Given the description of an element on the screen output the (x, y) to click on. 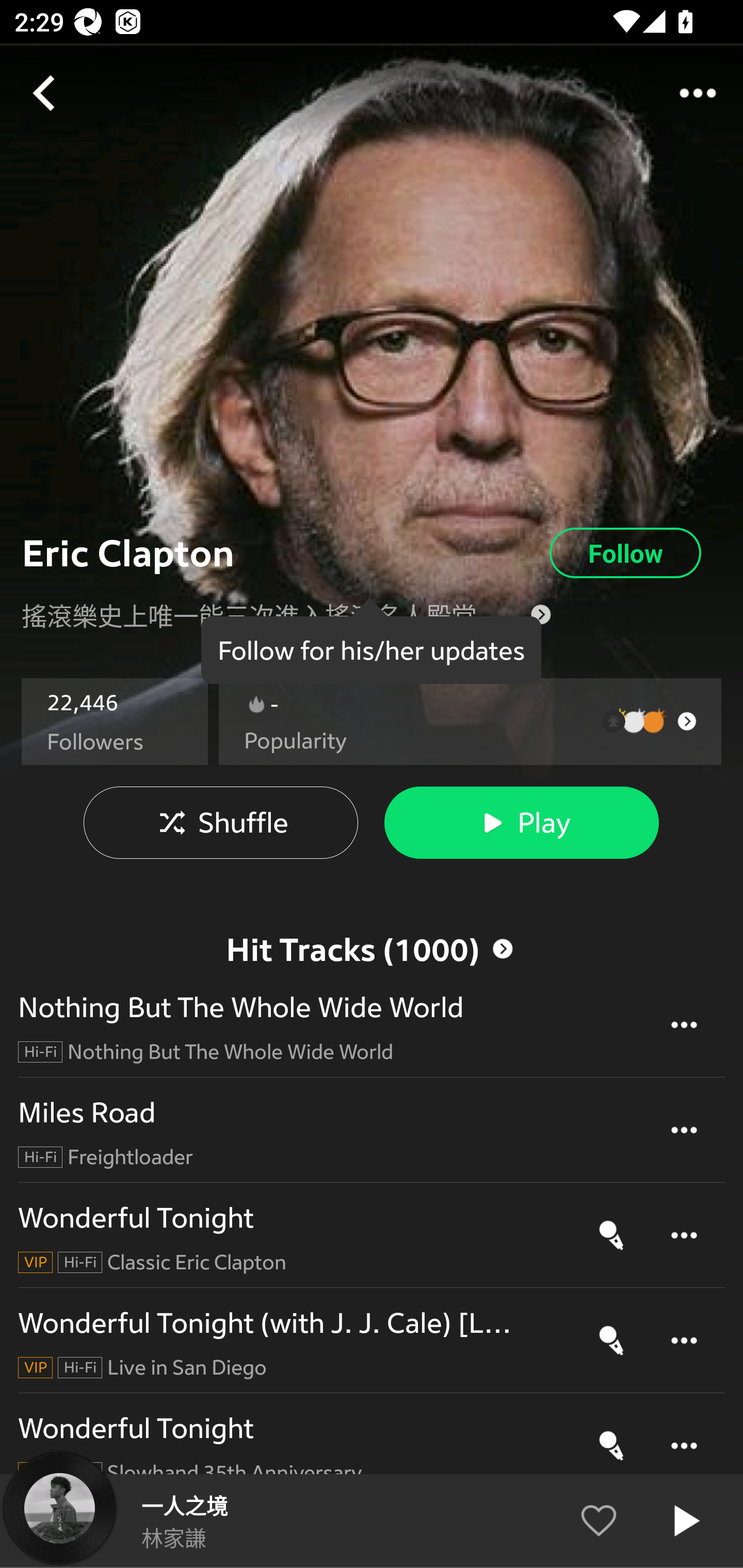
Follow (625, 553)
- Popularity (469, 721)
Popularity (294, 740)
Shuffle (220, 823)
Play (521, 823)
Hit Tracks (1000) (371, 915)
Hit Tracks (1000) (370, 949)
Miles Road Hi-Fi Freightloader (371, 1130)
Wonderful Tonight VIP Hi-Fi Classic Eric Clapton (371, 1235)
一人之境 林家謙 (371, 1520)
Add Top 30 songs (371, 1533)
